Given the description of an element on the screen output the (x, y) to click on. 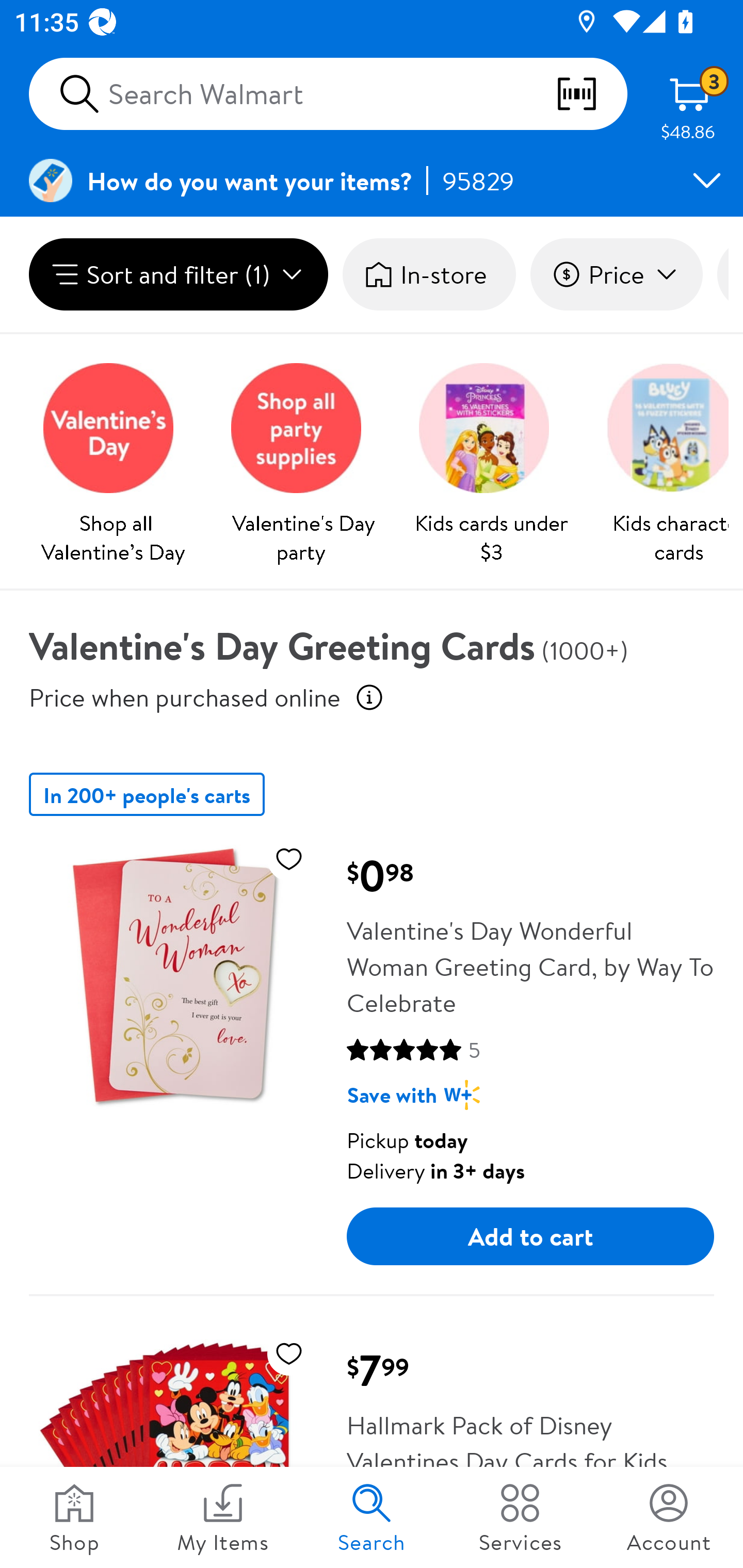
Search Walmart scan barcodes qr codes and more (327, 94)
scan barcodes qr codes and more (591, 94)
Search by Kids cards under $3 Kids cards under $3 (491, 457)
Price when purchased online (184, 696)
Price when purchased online (369, 697)
Add to cart (530, 1236)
Shop (74, 1517)
My Items (222, 1517)
Services (519, 1517)
Account (668, 1517)
